Given the description of an element on the screen output the (x, y) to click on. 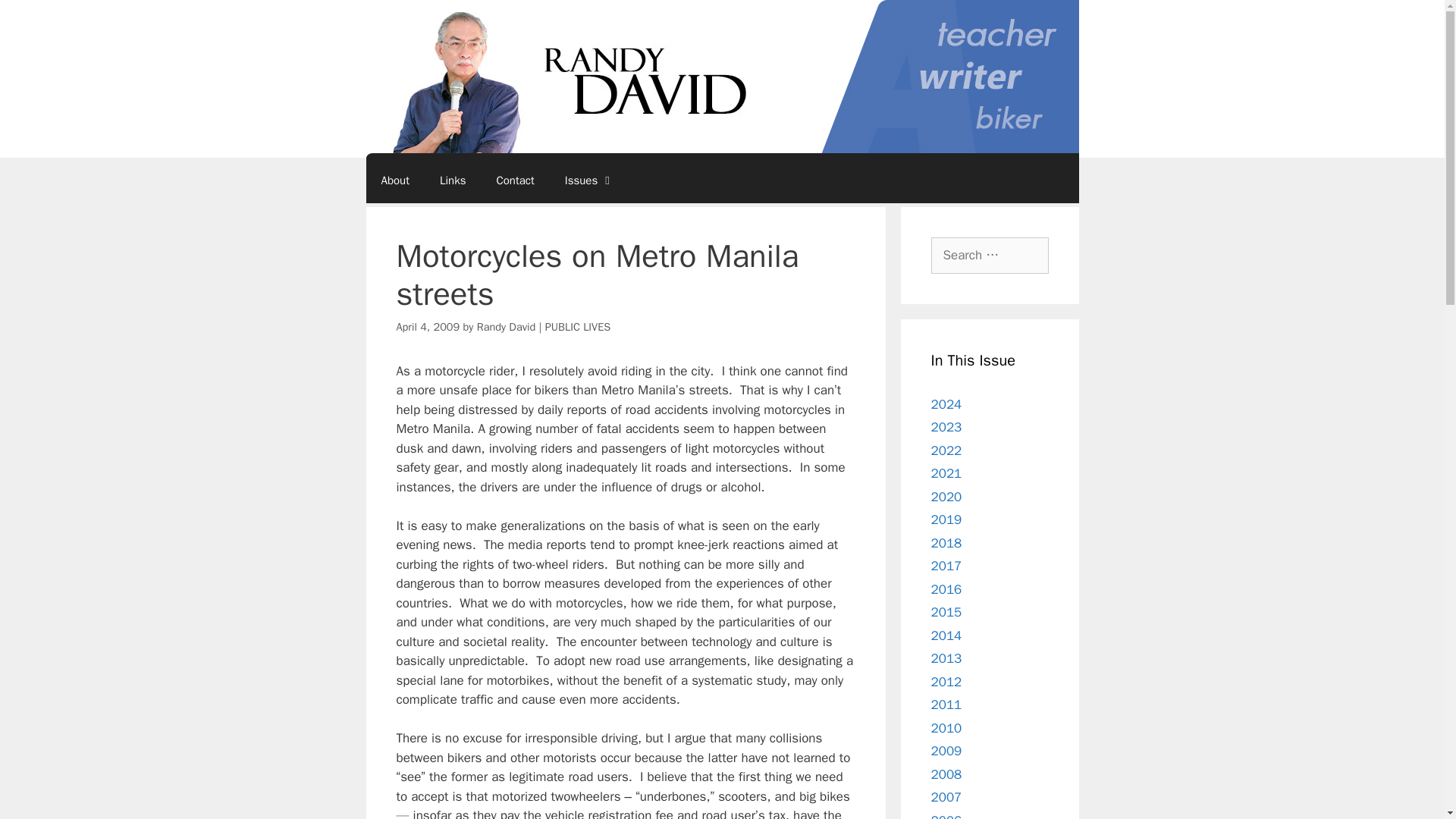
Contact (514, 180)
About (394, 180)
Issues (589, 180)
Links (452, 180)
Search for: (989, 255)
